Given the description of an element on the screen output the (x, y) to click on. 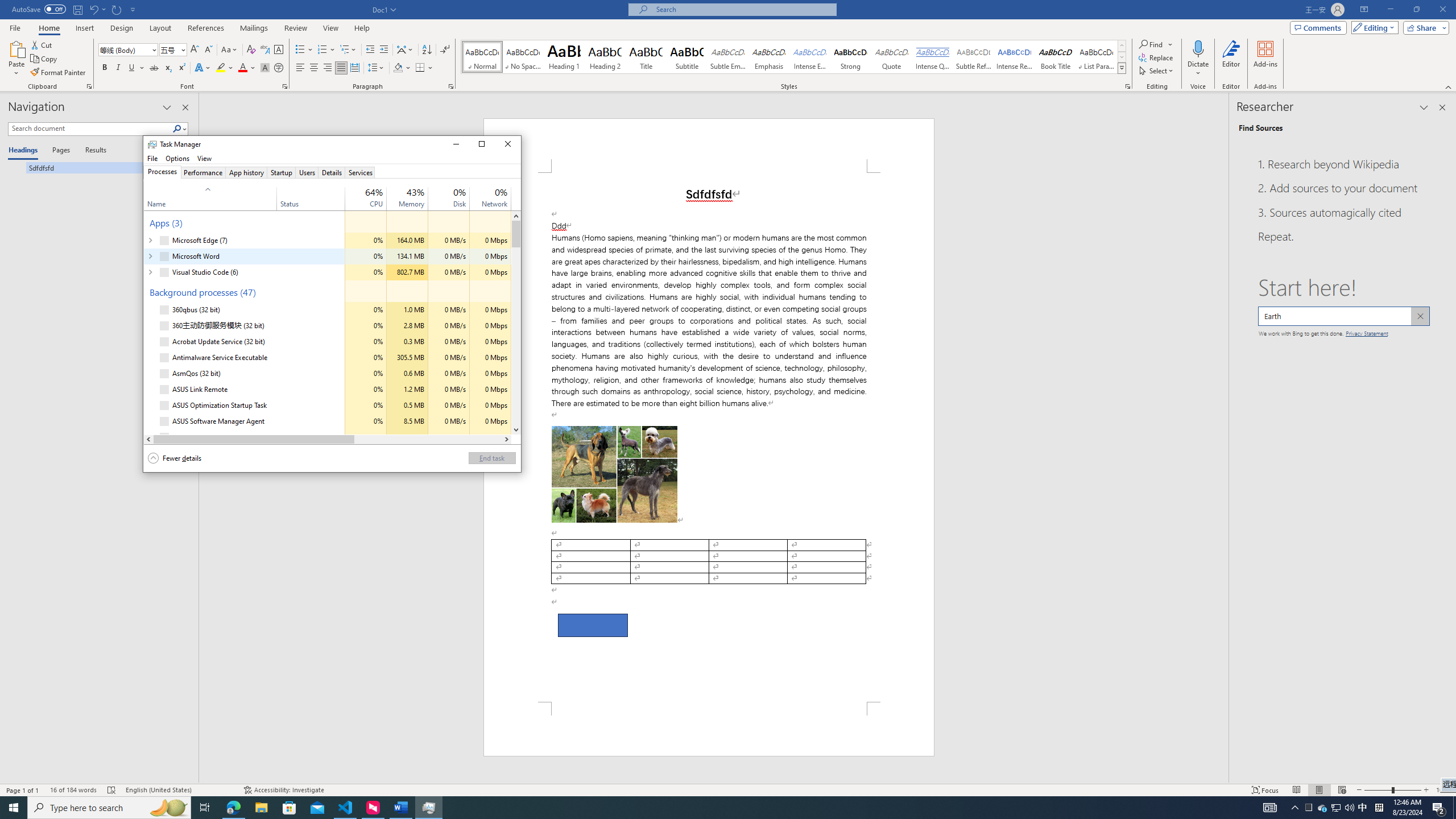
Quote (891, 56)
Subtle Reference (973, 56)
Column left (148, 438)
Notification Chevron (1294, 807)
Maximize (481, 144)
